Given the description of an element on the screen output the (x, y) to click on. 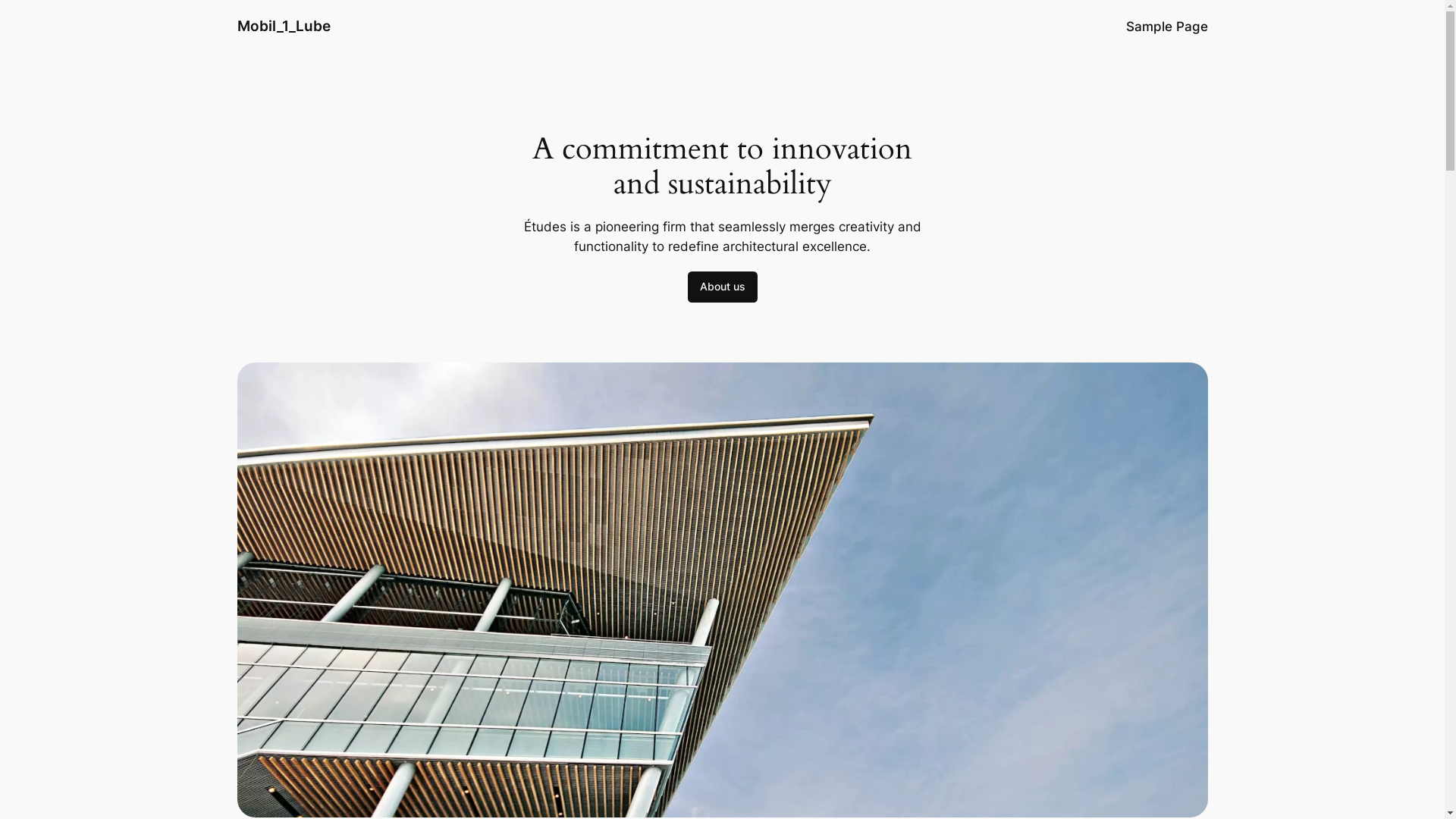
Mobil_1_Lube Element type: text (282, 25)
About us Element type: text (721, 287)
Sample Page Element type: text (1166, 26)
